Given the description of an element on the screen output the (x, y) to click on. 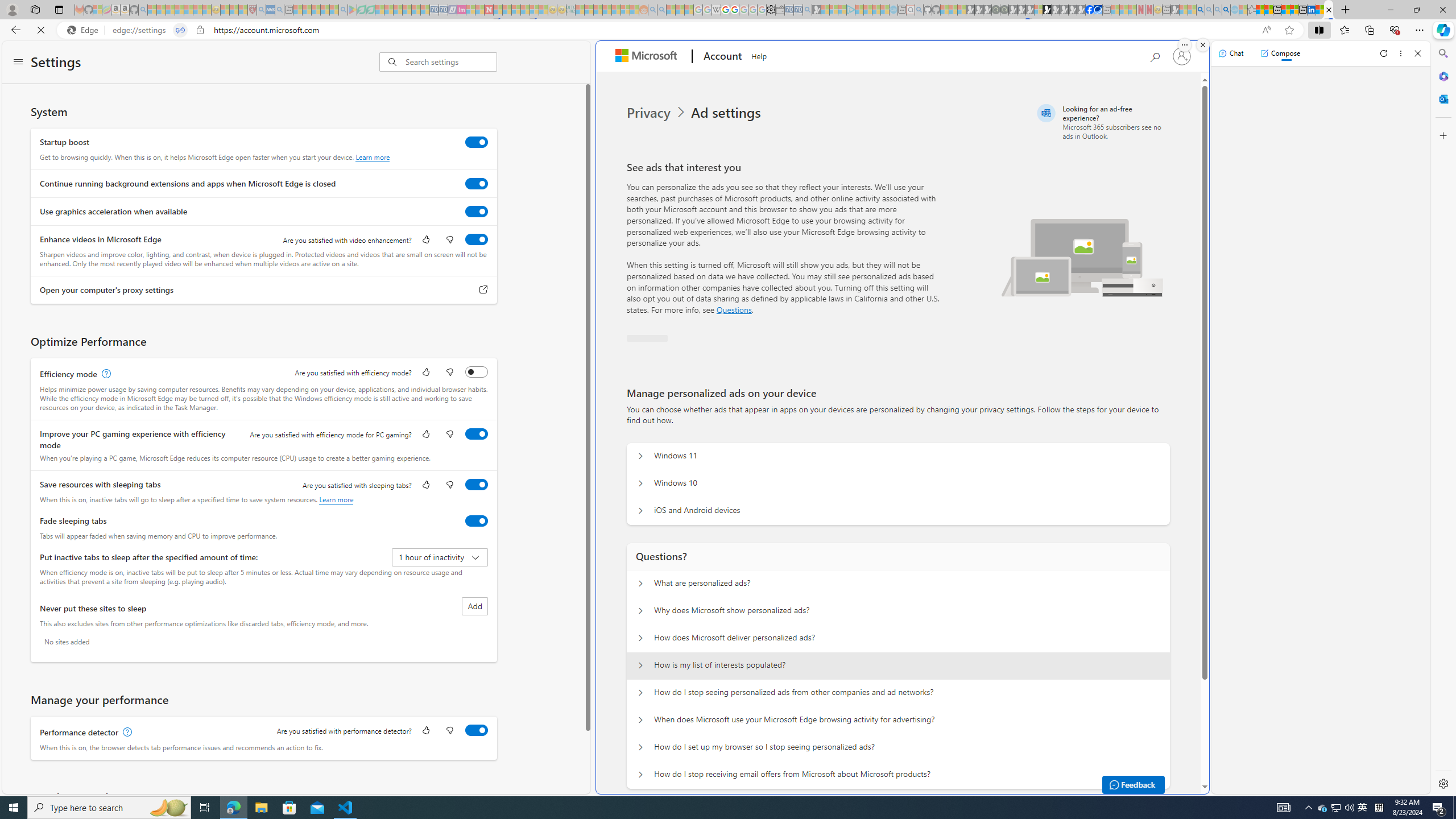
Open your computer's proxy settings (483, 290)
Questions? How does Microsoft deliver personalized ads? (640, 638)
MSNBC - MSN - Sleeping (579, 9)
More options. (1183, 45)
Expert Portfolios - Sleeping (606, 9)
Save resources with sleeping tabs (476, 484)
